Given the description of an element on the screen output the (x, y) to click on. 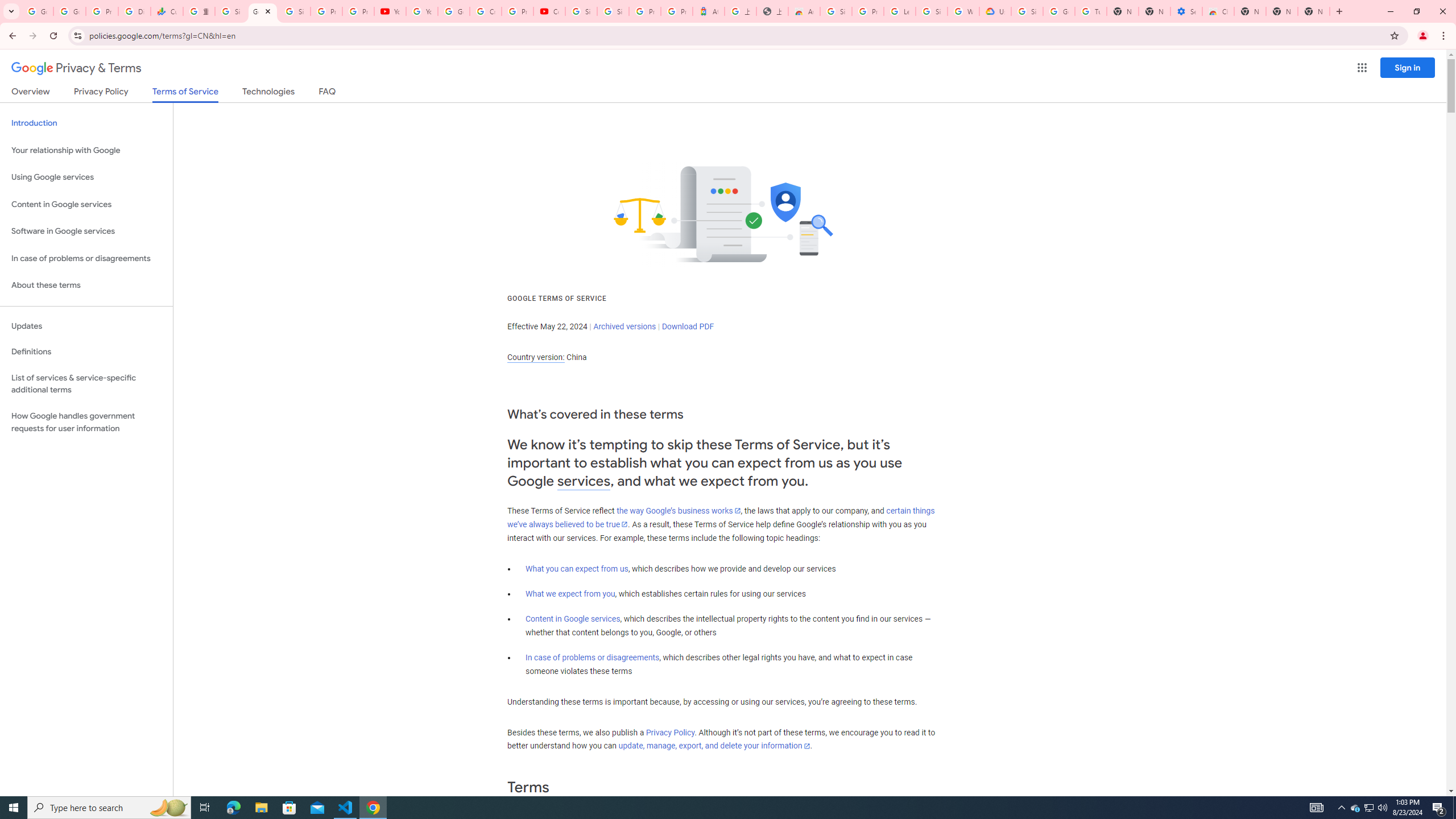
Awesome Screen Recorder & Screenshot - Chrome Web Store (804, 11)
Country version: (535, 357)
Privacy & Terms (76, 68)
Terms of Service (184, 94)
Using Google services (86, 176)
Definitions (86, 352)
Google Workspace Admin Community (37, 11)
Sign in - Google Accounts (613, 11)
Sign in - Google Accounts (836, 11)
YouTube (389, 11)
